Given the description of an element on the screen output the (x, y) to click on. 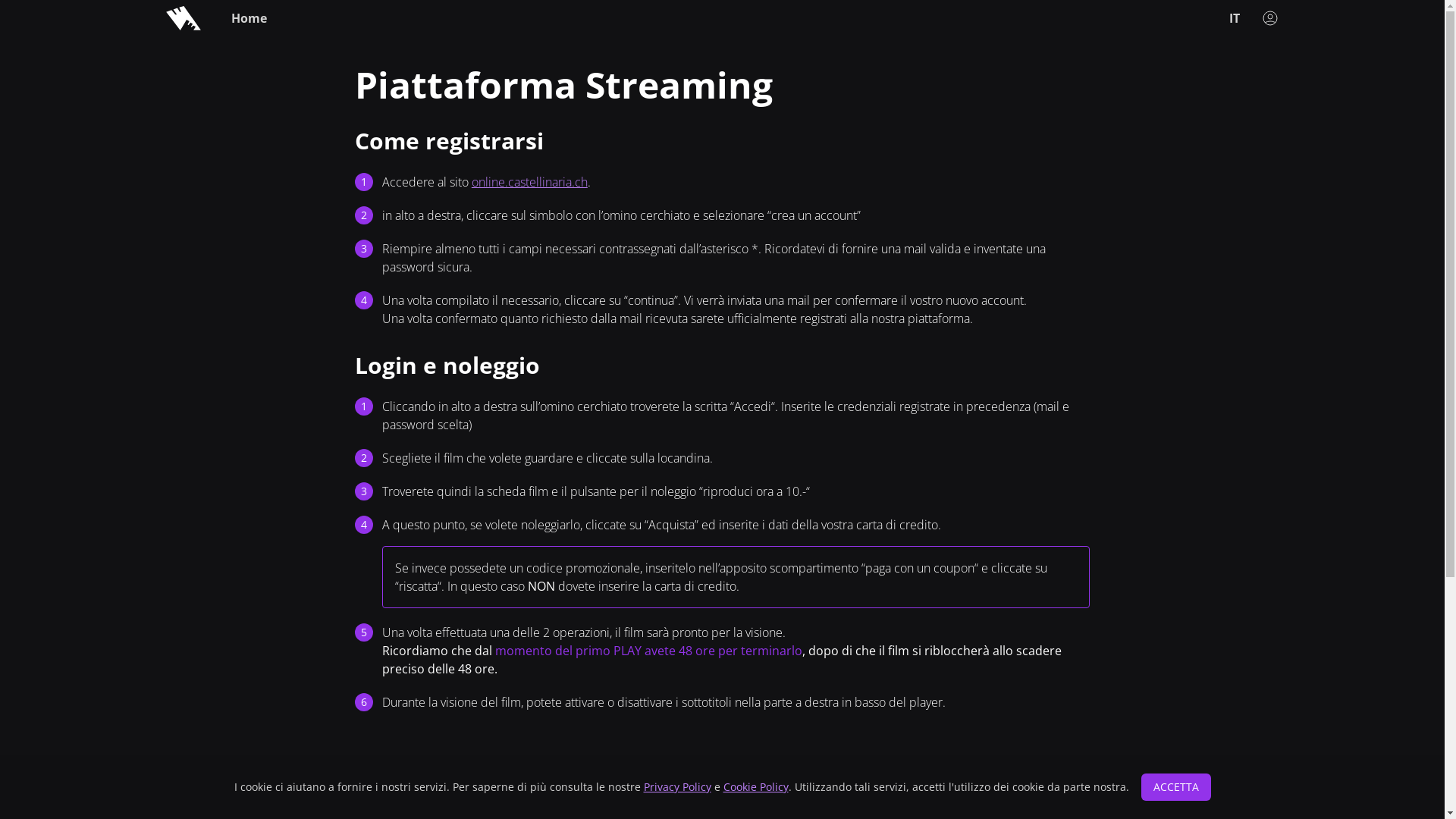
Cookie Policy Element type: text (755, 786)
ACCETTA Element type: text (1175, 786)
IT Element type: text (1233, 18)
Home Element type: text (248, 17)
online.castellinaria.ch Element type: text (529, 181)
Privacy Policy Element type: text (676, 786)
